Given the description of an element on the screen output the (x, y) to click on. 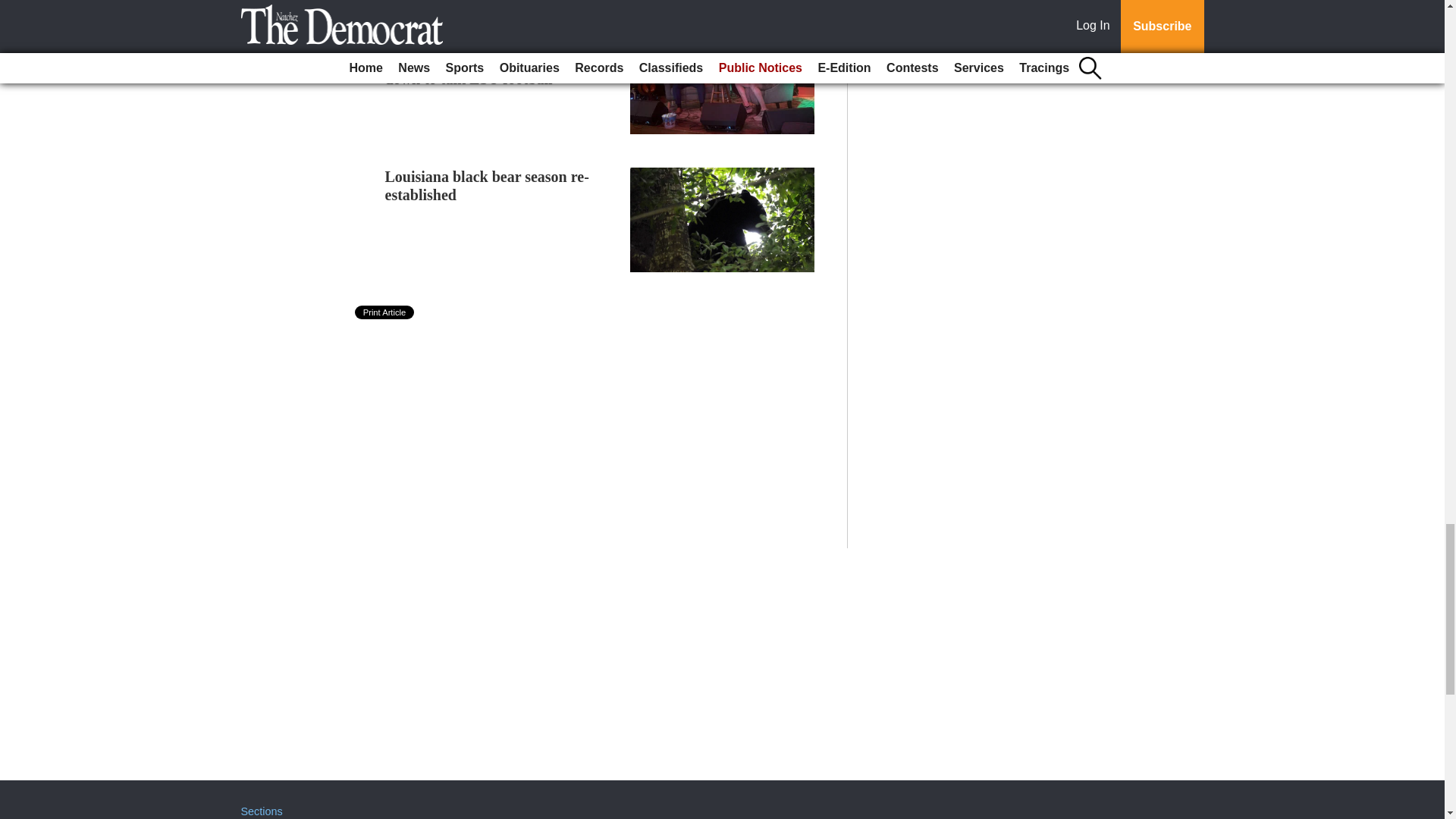
Louisiana black bear season re-established (487, 185)
